Given the description of an element on the screen output the (x, y) to click on. 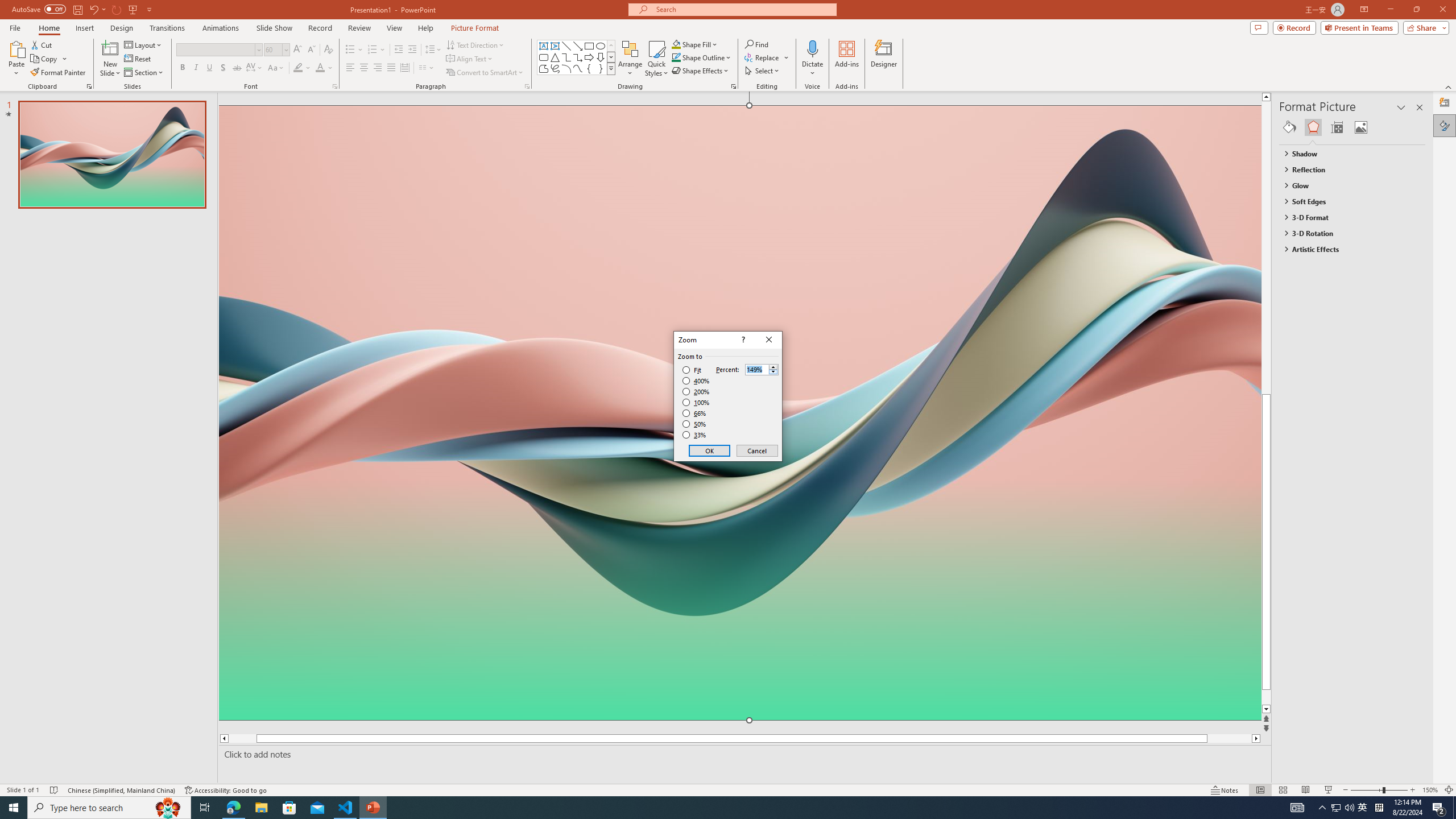
Percent (761, 369)
